Given the description of an element on the screen output the (x, y) to click on. 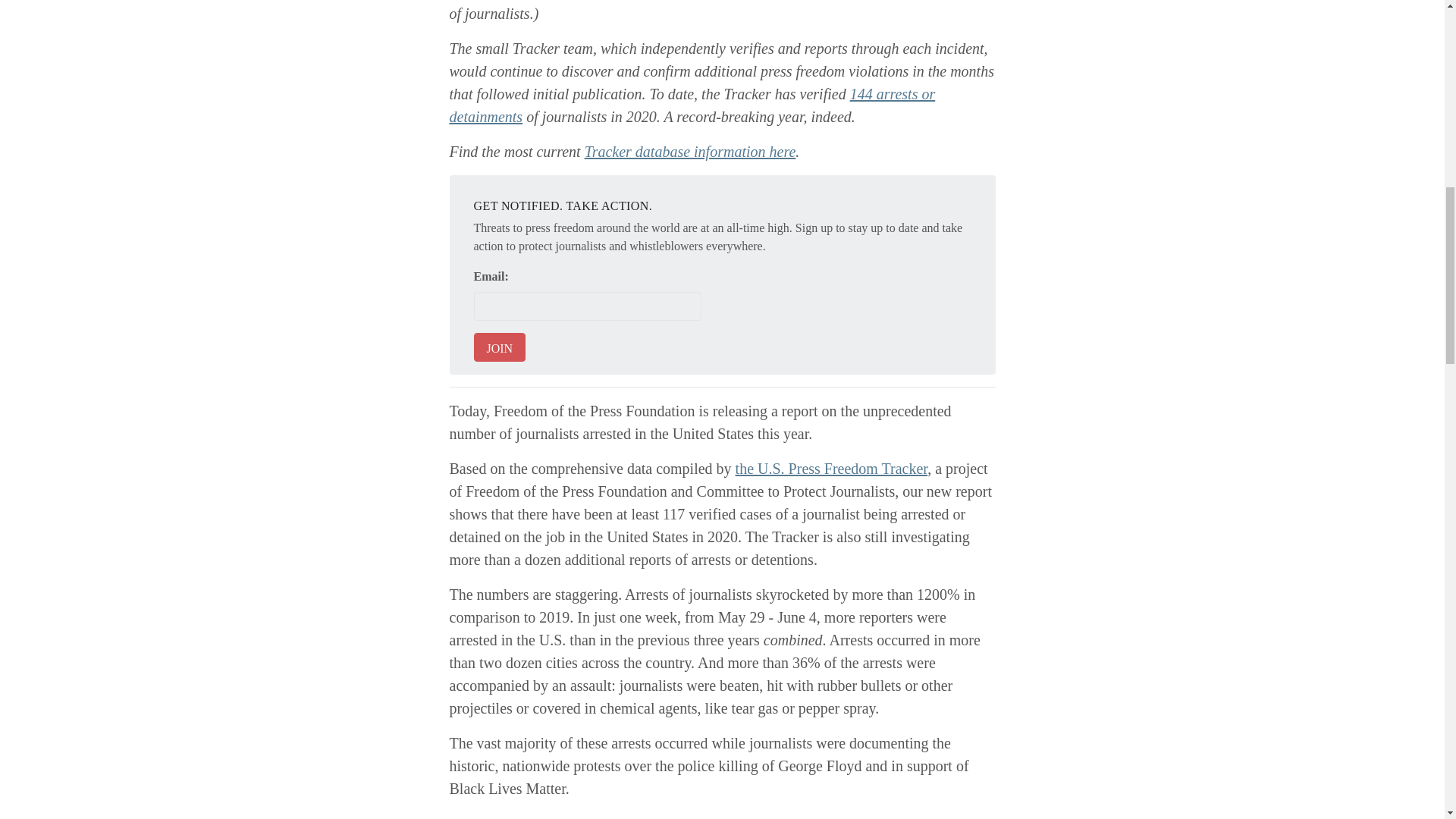
JOIN (499, 346)
144 arrests or detainments (691, 105)
Tracker database information here (690, 151)
the U.S. Press Freedom Tracker (831, 468)
